Given the description of an element on the screen output the (x, y) to click on. 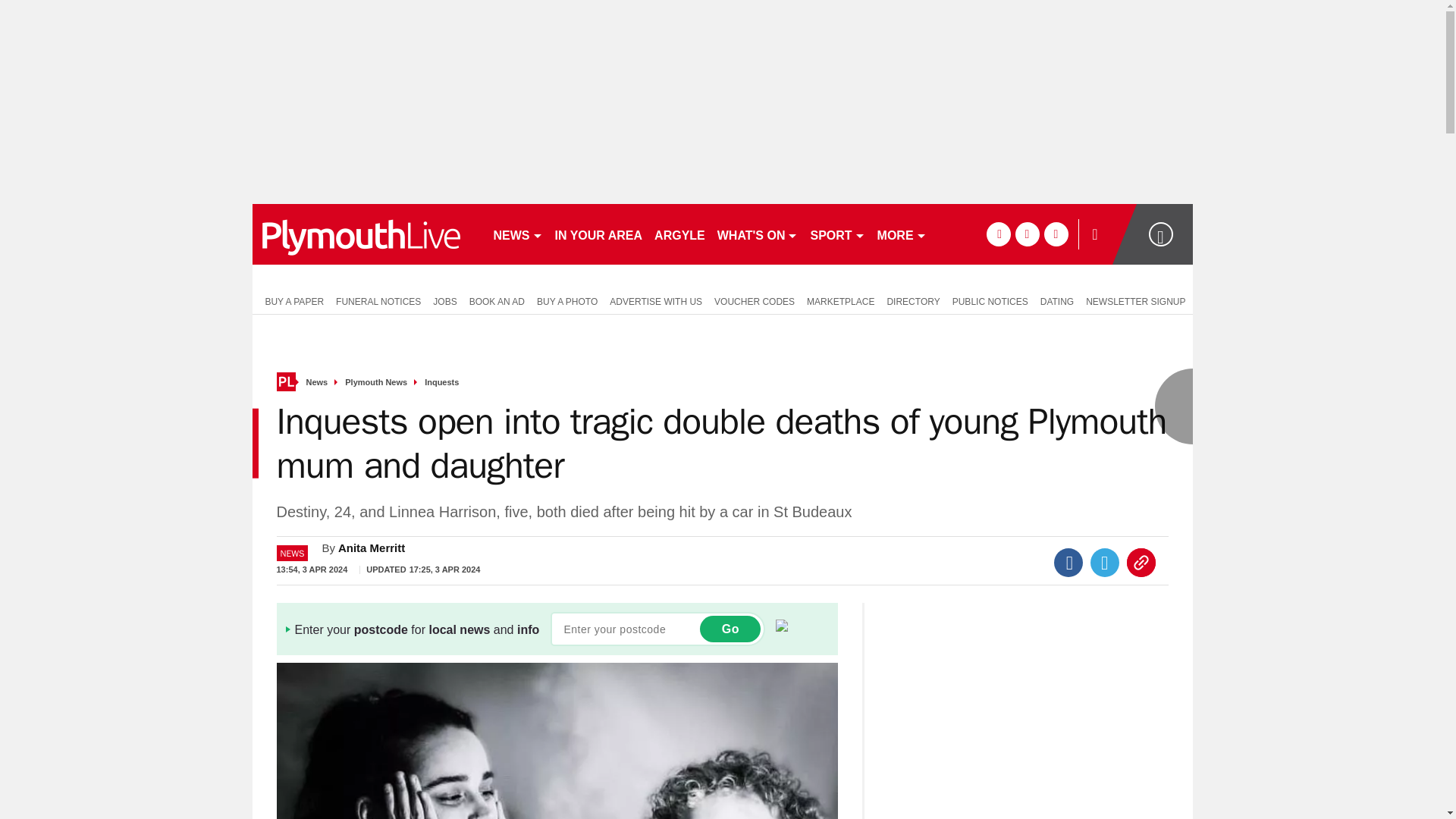
Facebook (1068, 562)
NEWS (517, 233)
Go (730, 628)
plymouthherald (365, 233)
MORE (901, 233)
facebook (997, 233)
SPORT (836, 233)
Twitter (1104, 562)
IN YOUR AREA (598, 233)
ARGYLE (679, 233)
